Given the description of an element on the screen output the (x, y) to click on. 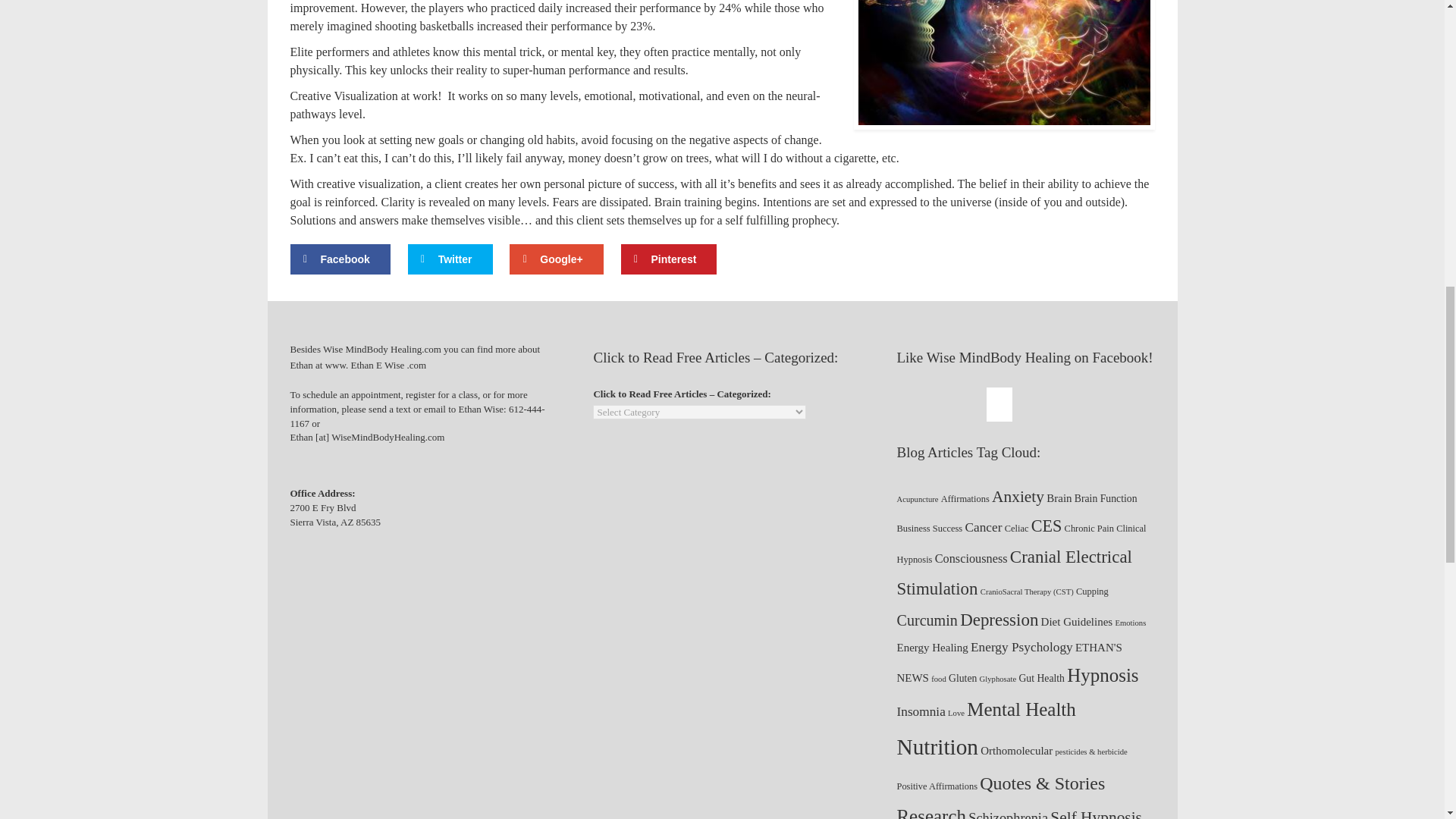
Curcumin (926, 619)
Anxiety (1017, 496)
Emotions (1130, 622)
CES (1046, 525)
Clinical Hypnosis (1020, 543)
Chronic Pain (1088, 528)
Energy Healing (932, 647)
Twitter (450, 259)
www. Ethan E Wise .com (376, 365)
Brain (1058, 497)
Energy Psychology (1022, 647)
Acupuncture (916, 499)
Cupping (1091, 590)
Consciousness (970, 558)
Cancer (982, 527)
